Given the description of an element on the screen output the (x, y) to click on. 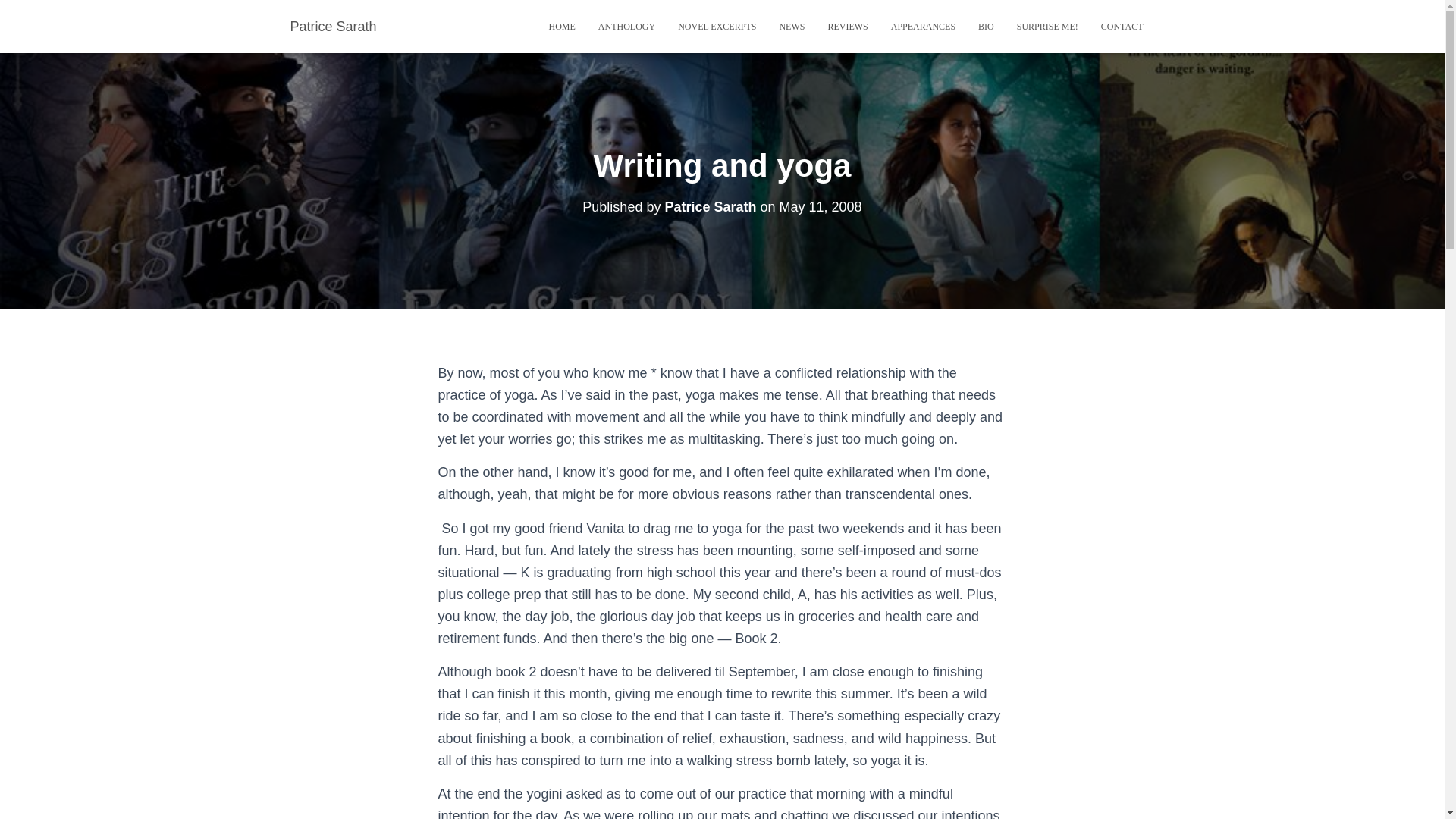
Patrice Sarath (333, 26)
NEWS (791, 26)
Reviews (847, 26)
NOVEL EXCERPTS (716, 26)
CONTACT (1121, 26)
ANTHOLOGY (626, 26)
Patrice Sarath (333, 26)
Patrice Sarath (709, 206)
REVIEWS (847, 26)
Appearances (922, 26)
News (791, 26)
HOME (561, 26)
Anthology (626, 26)
Bio (986, 26)
APPEARANCES (922, 26)
